Given the description of an element on the screen output the (x, y) to click on. 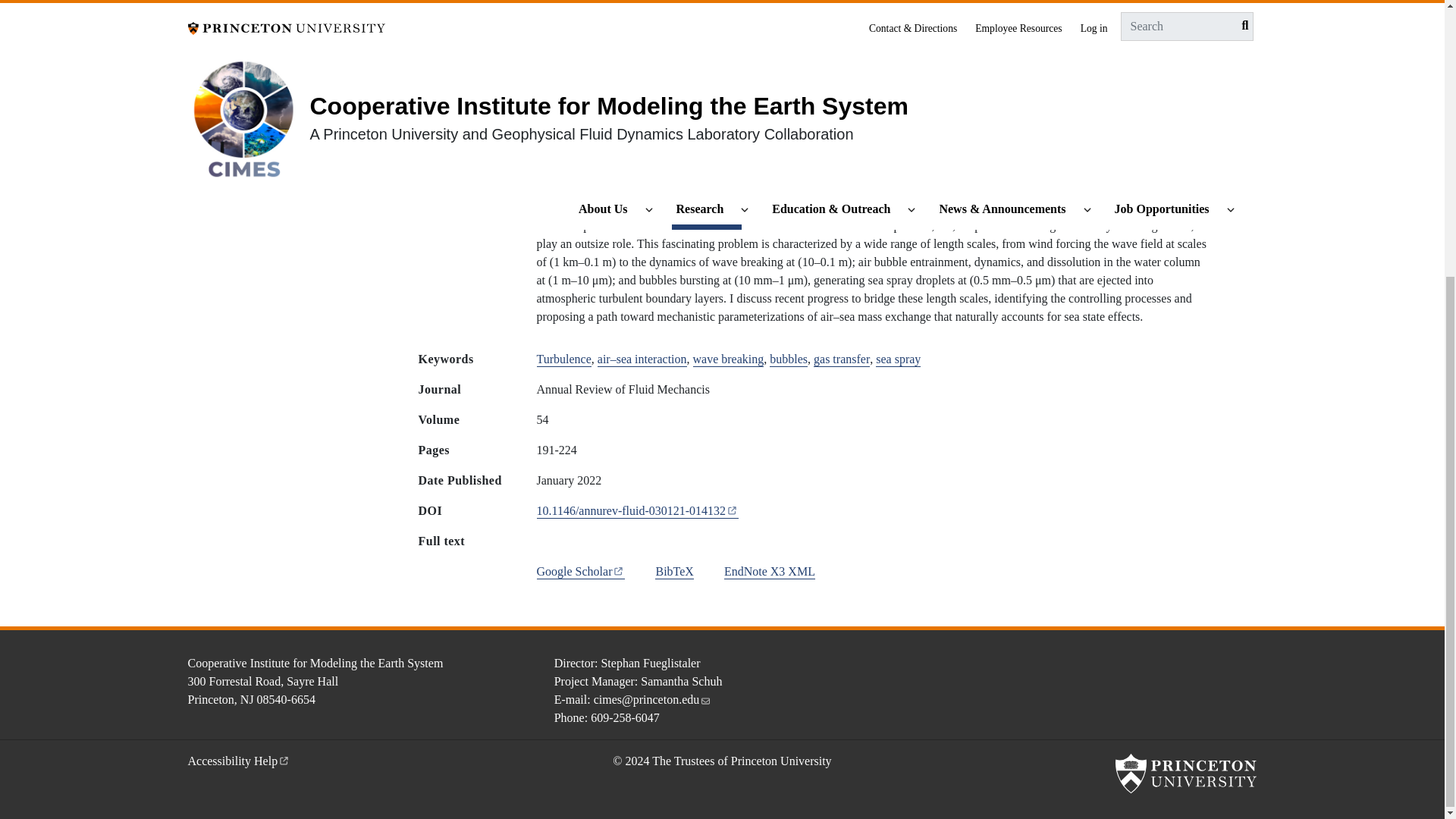
Link is external (618, 569)
Link is external (732, 509)
Link sends email (705, 697)
Princeton University (1185, 773)
Link is external (283, 759)
